Given the description of an element on the screen output the (x, y) to click on. 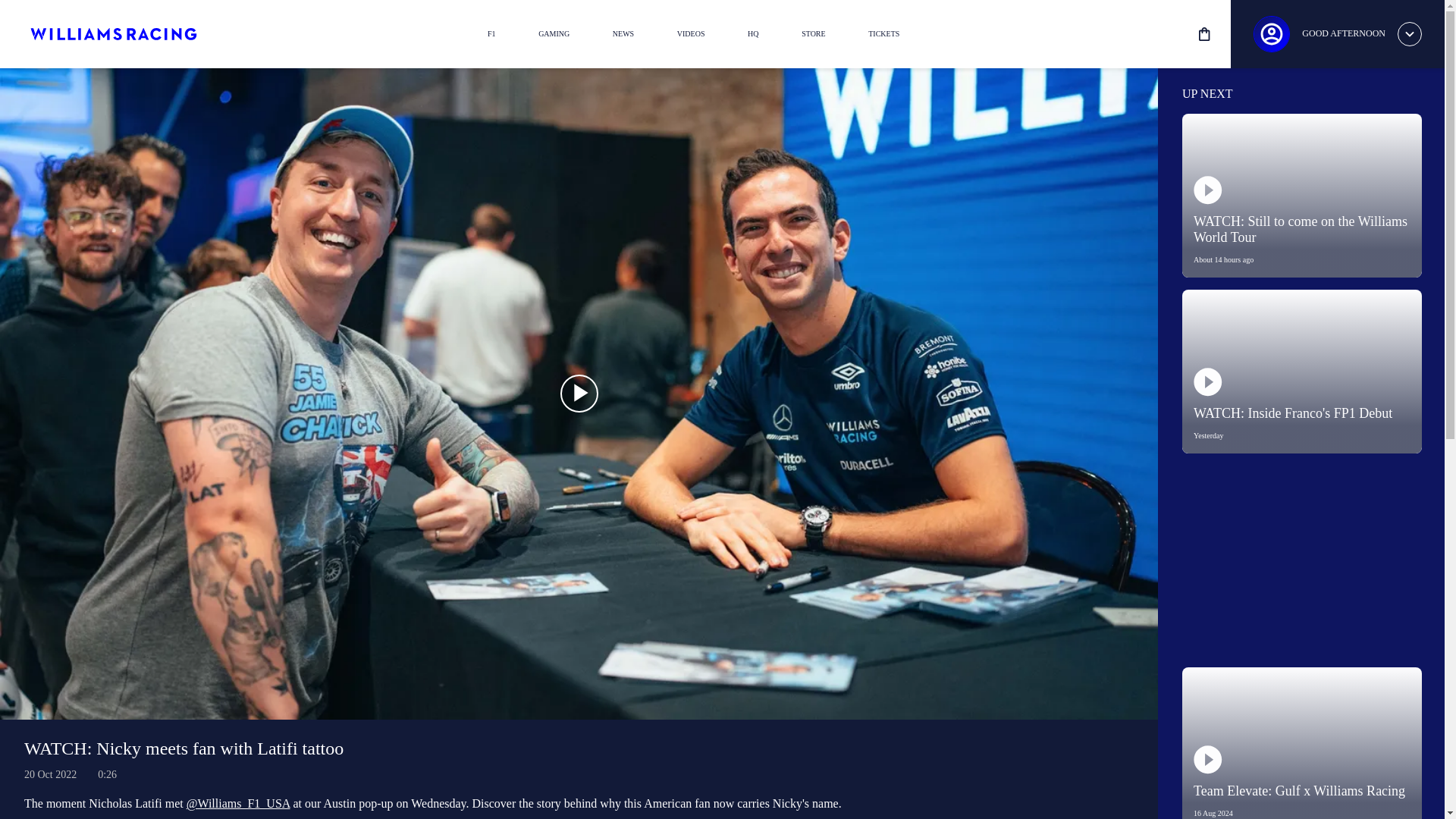
TICKETS (884, 33)
3rd party ad content (1301, 560)
NEWS (623, 33)
STORE (1302, 371)
Play Video (813, 33)
Play Video (577, 393)
VIDEOS (577, 393)
